Given the description of an element on the screen output the (x, y) to click on. 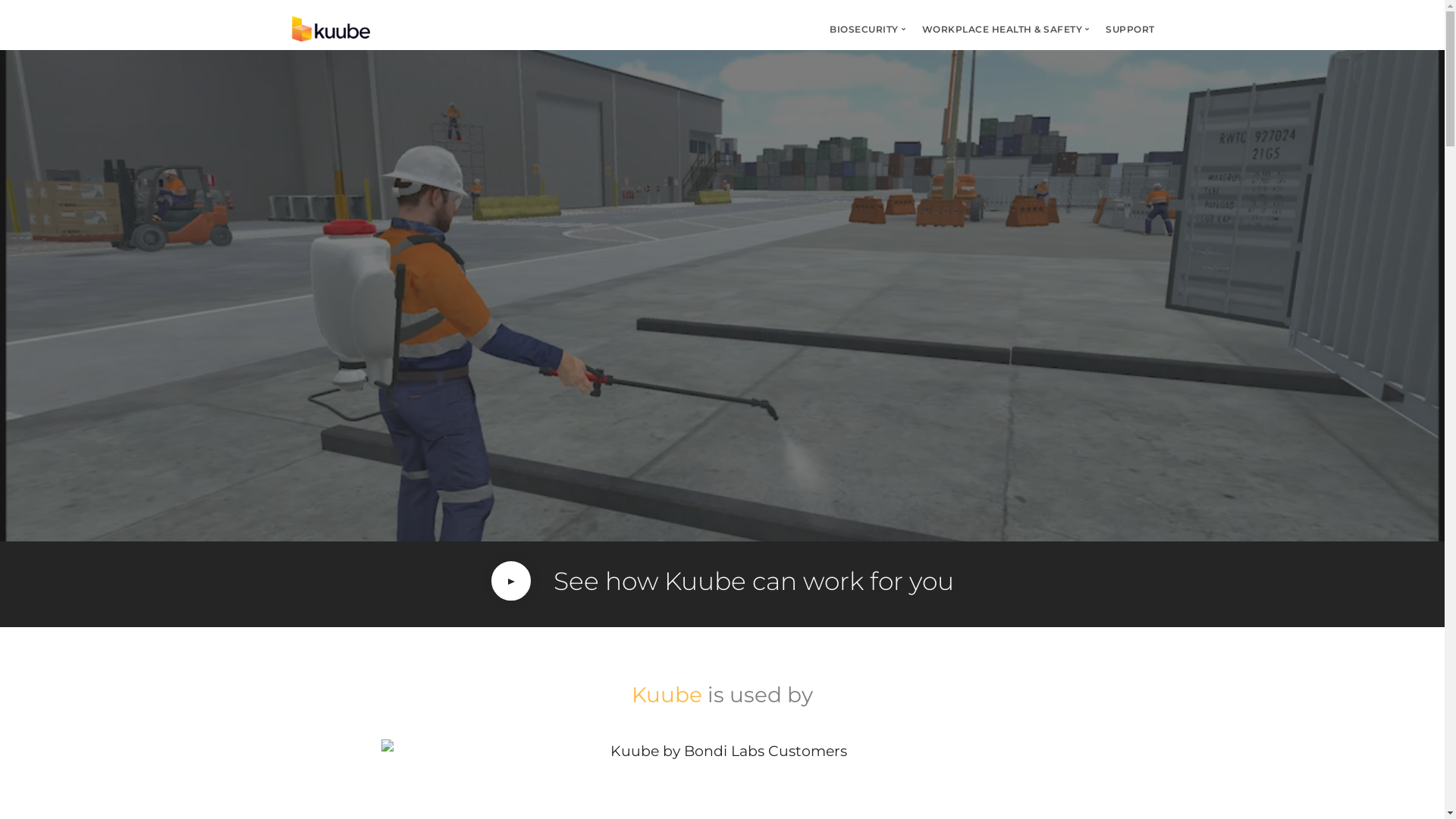
SUPPORT Element type: text (1129, 28)
